Given the description of an element on the screen output the (x, y) to click on. 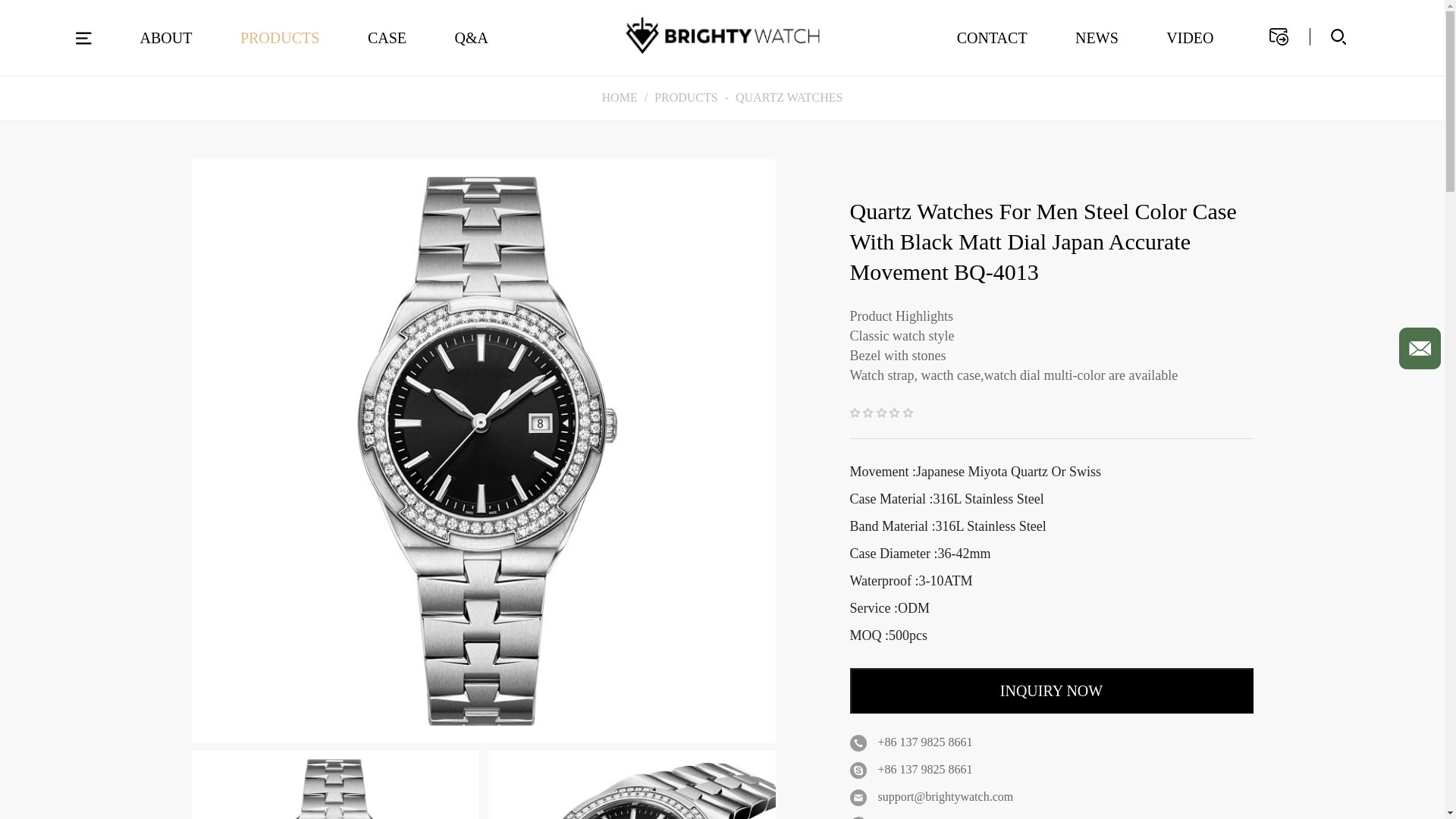
PRODUCTS (279, 38)
PRODUCTS (685, 97)
HOME (619, 97)
QUARTZ WATCHES (789, 97)
email (1420, 348)
CONTACT (991, 38)
INQUIRY NOW (1050, 690)
INQUIRY NOW (1050, 690)
